Given the description of an element on the screen output the (x, y) to click on. 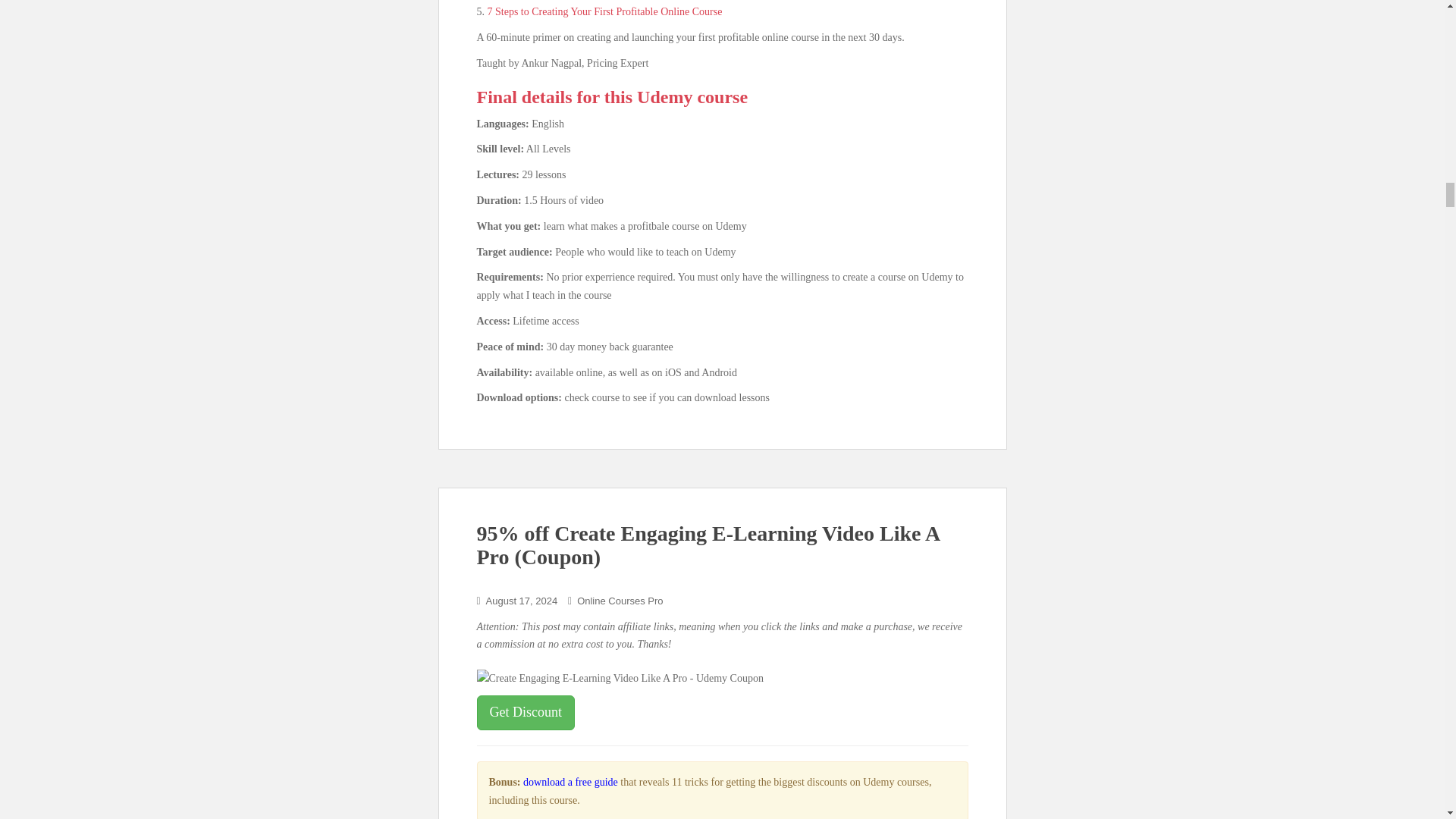
August 17, 2024 (521, 600)
Create Engaging E-Learning Video Like A Pro - Udemy Coupon (619, 678)
7 Steps to Creating Your First Profitable Online Course (604, 11)
